Given the description of an element on the screen output the (x, y) to click on. 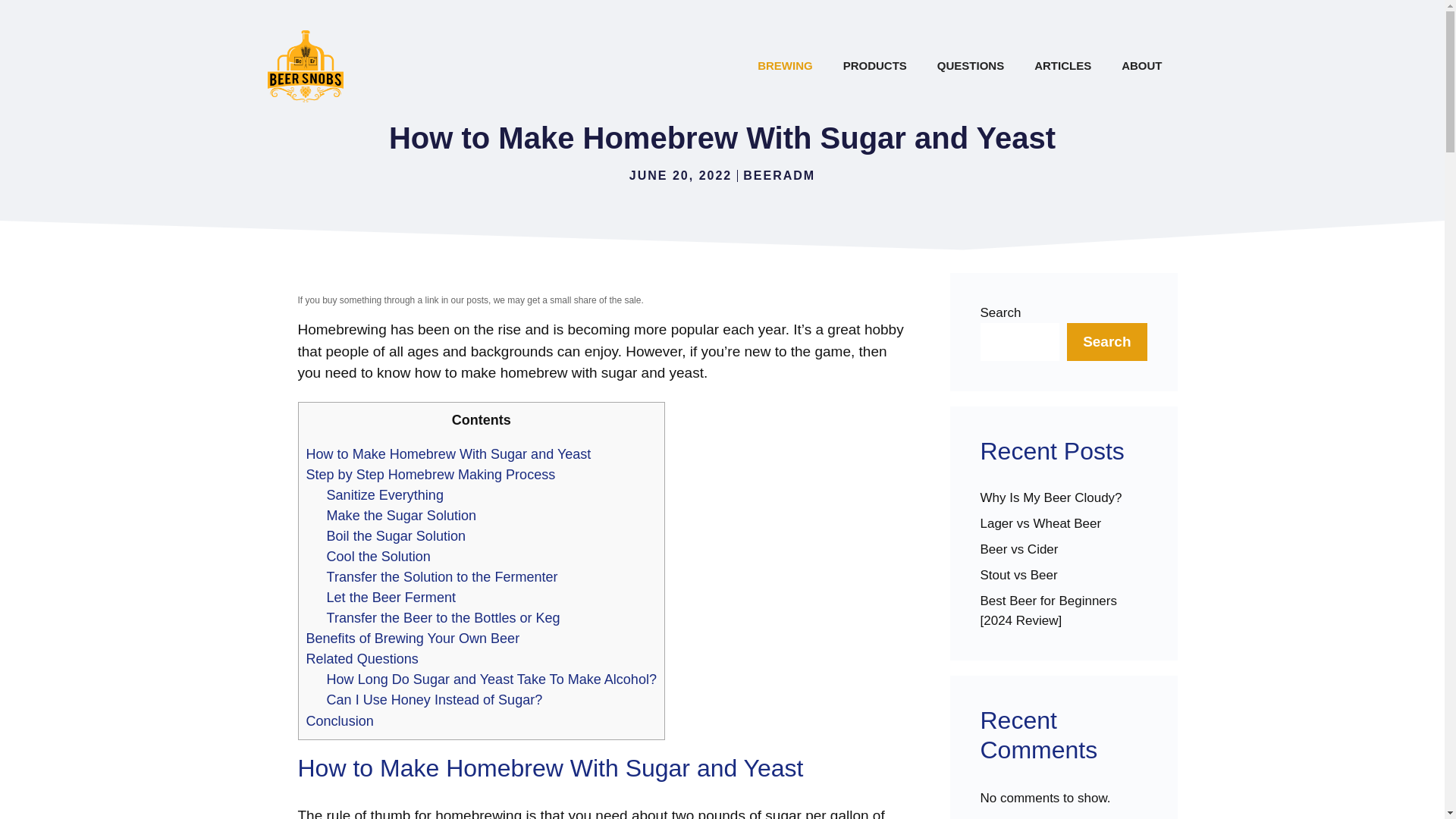
Make the Sugar Solution (401, 515)
BREWING (785, 65)
ABOUT (1141, 65)
Cool the Solution (378, 556)
Can I Use Honey Instead of Sugar? (434, 699)
Transfer the Solution to the Fermenter (441, 576)
Benefits of Brewing Your Own Beer (412, 638)
Conclusion (339, 720)
Related Questions (362, 658)
PRODUCTS (874, 65)
